Given the description of an element on the screen output the (x, y) to click on. 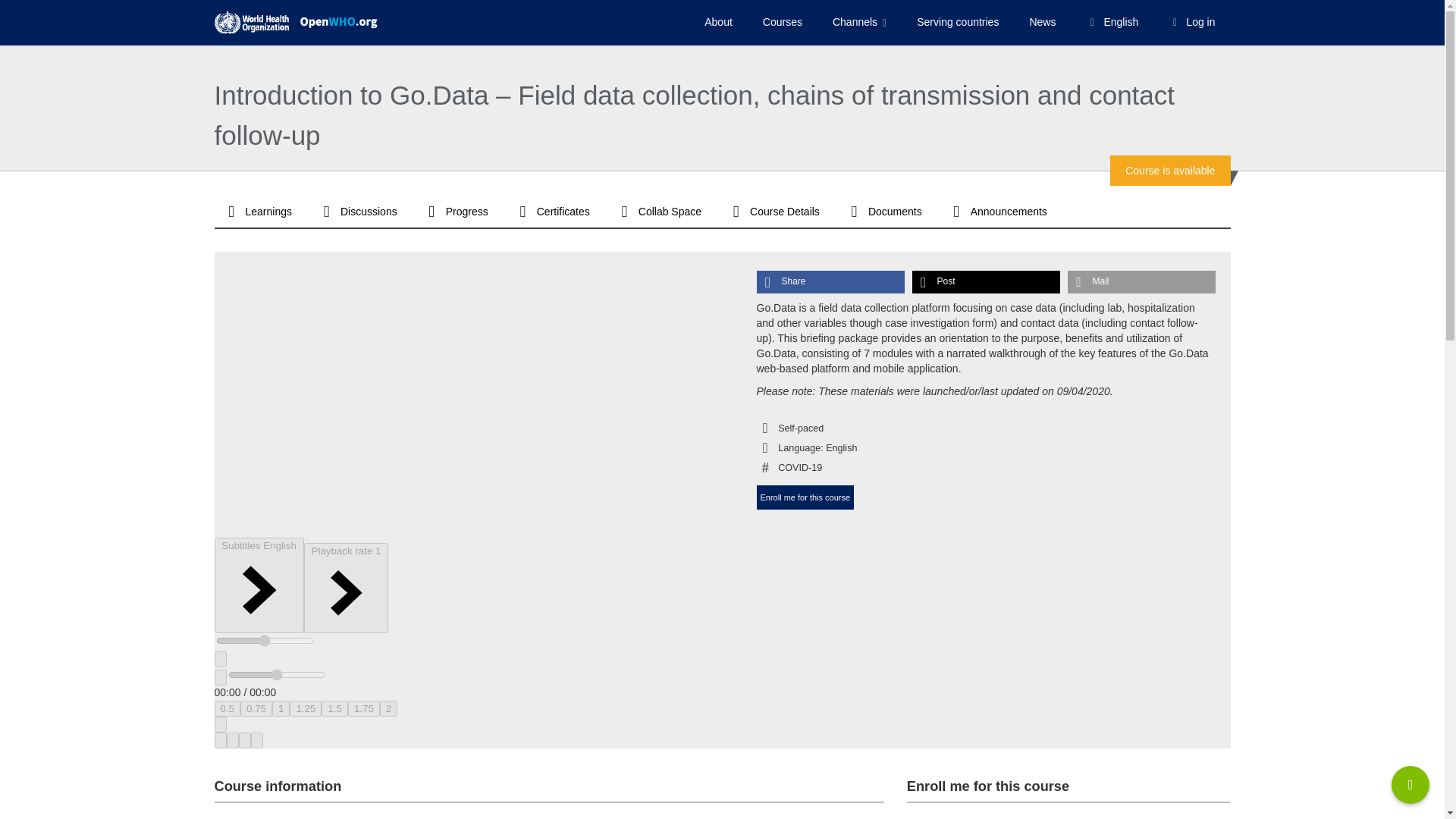
Share on Facebook (830, 282)
Send by email (1141, 282)
Share on X, formerly Twitter (985, 282)
